Given the description of an element on the screen output the (x, y) to click on. 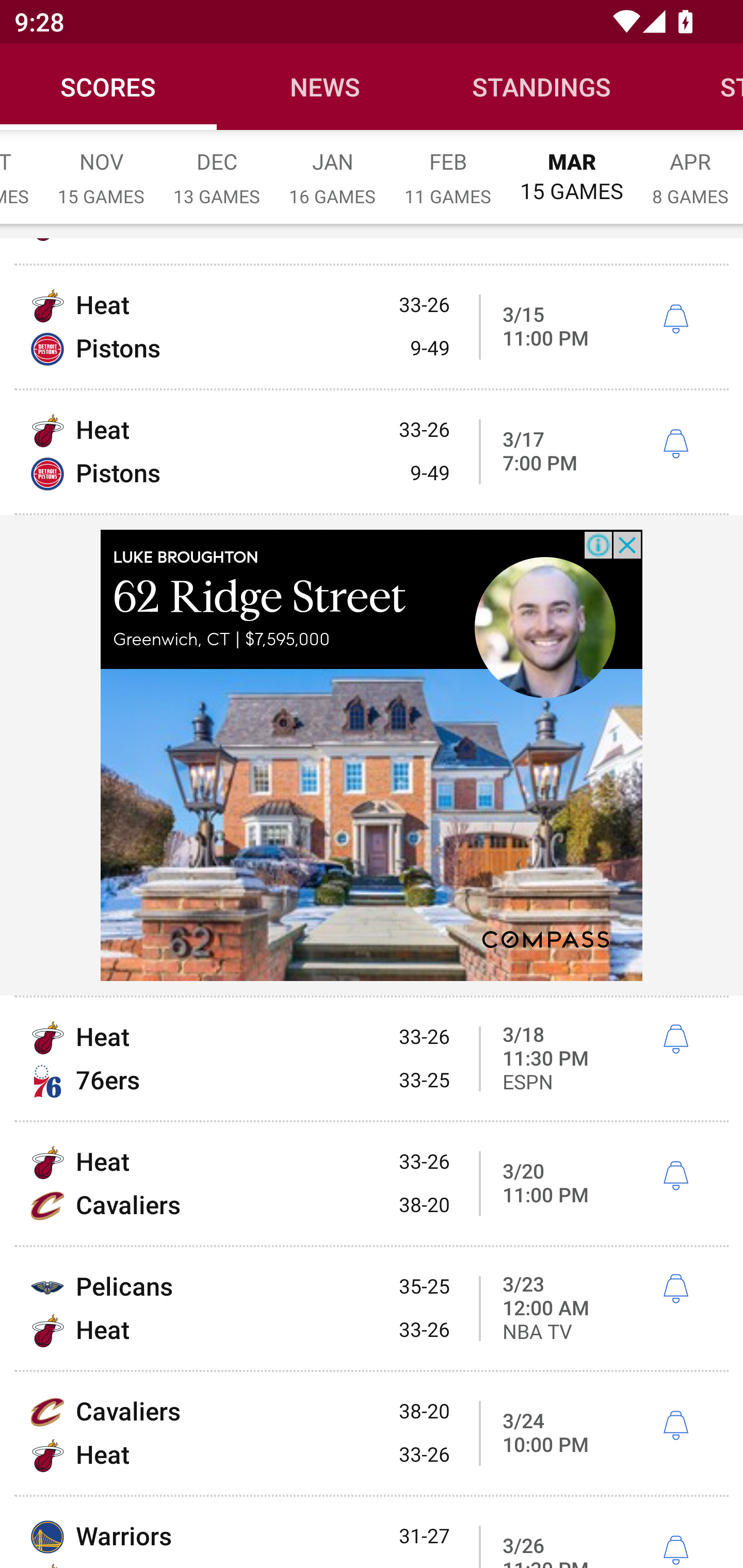
News NEWS (324, 86)
Standings STANDINGS (541, 86)
NOV 15 GAMES (101, 167)
DEC 13 GAMES (216, 167)
JAN 16 GAMES (332, 167)
FEB 11 GAMES (447, 167)
MAR 15 GAMES (571, 167)
APR 8 GAMES (690, 167)
Heat 33-26 Pistons 9-49 3/15 11:00 PM í (371, 326)
í (675, 318)
Heat 33-26 Pistons 9-49 3/17 7:00 PM í (371, 451)
í (675, 444)
Heat 33-26 76ers 33-25 3/18 11:30 PM í ESPN (371, 1058)
í (675, 1039)
Heat 33-26 Cavaliers 38-20 3/20 11:00 PM í (371, 1183)
í (675, 1176)
Pelicans 35-25 Heat 33-26 3/23 12:00 AM í NBA TV (371, 1308)
í (675, 1289)
Cavaliers 38-20 Heat 33-26 3/24 10:00 PM í (371, 1433)
í (675, 1425)
Warriors 31-27 Heat 3/26 11:30 PM í (371, 1532)
í (675, 1550)
